Given the description of an element on the screen output the (x, y) to click on. 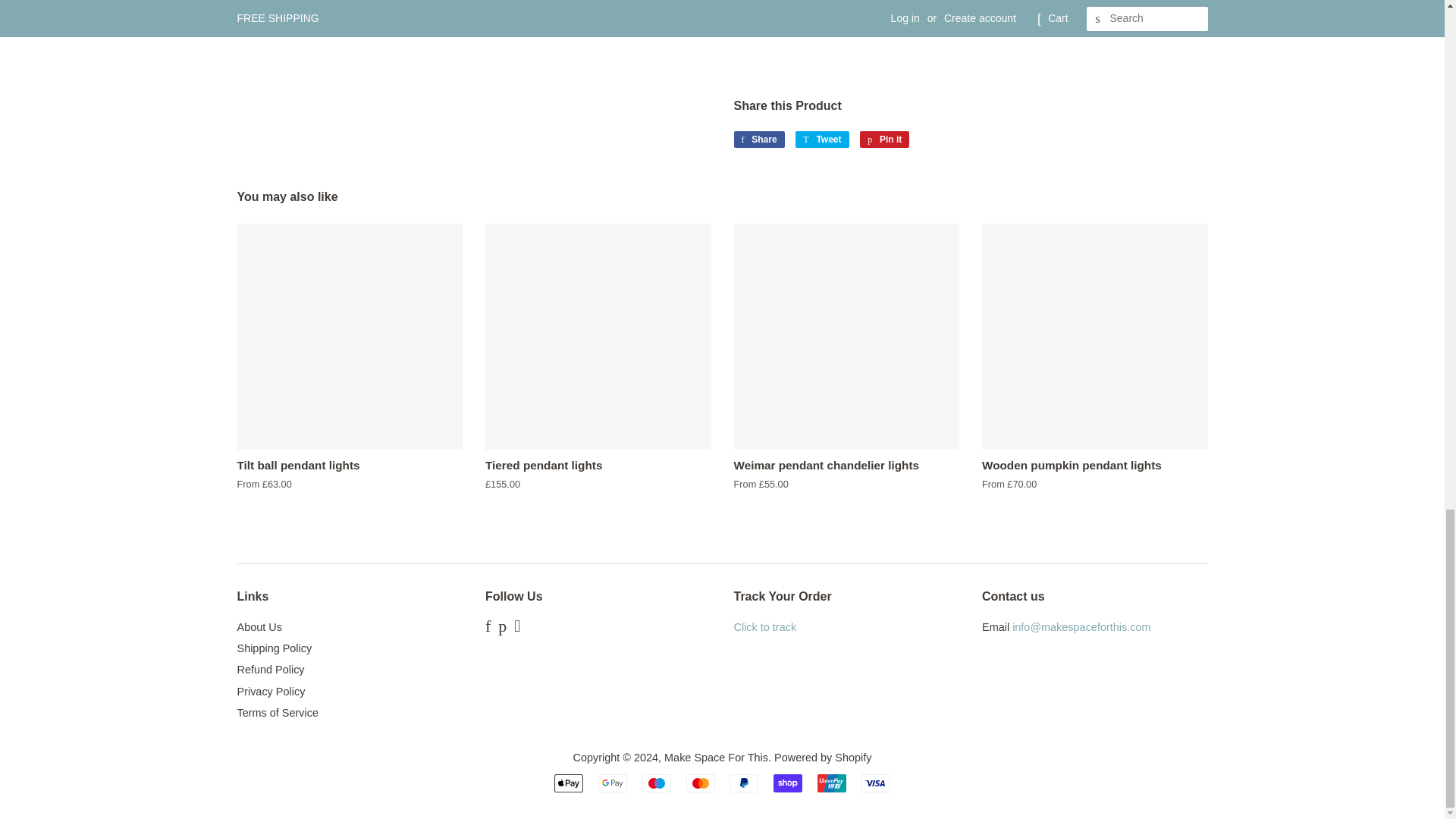
PayPal (743, 782)
Pin on Pinterest (884, 139)
Tweet on Twitter (821, 139)
Google Pay (612, 782)
Share on Facebook (758, 139)
Shop Pay (787, 782)
Visa (875, 782)
Union Pay (830, 782)
Maestro (656, 782)
Apple Pay (568, 782)
